Given the description of an element on the screen output the (x, y) to click on. 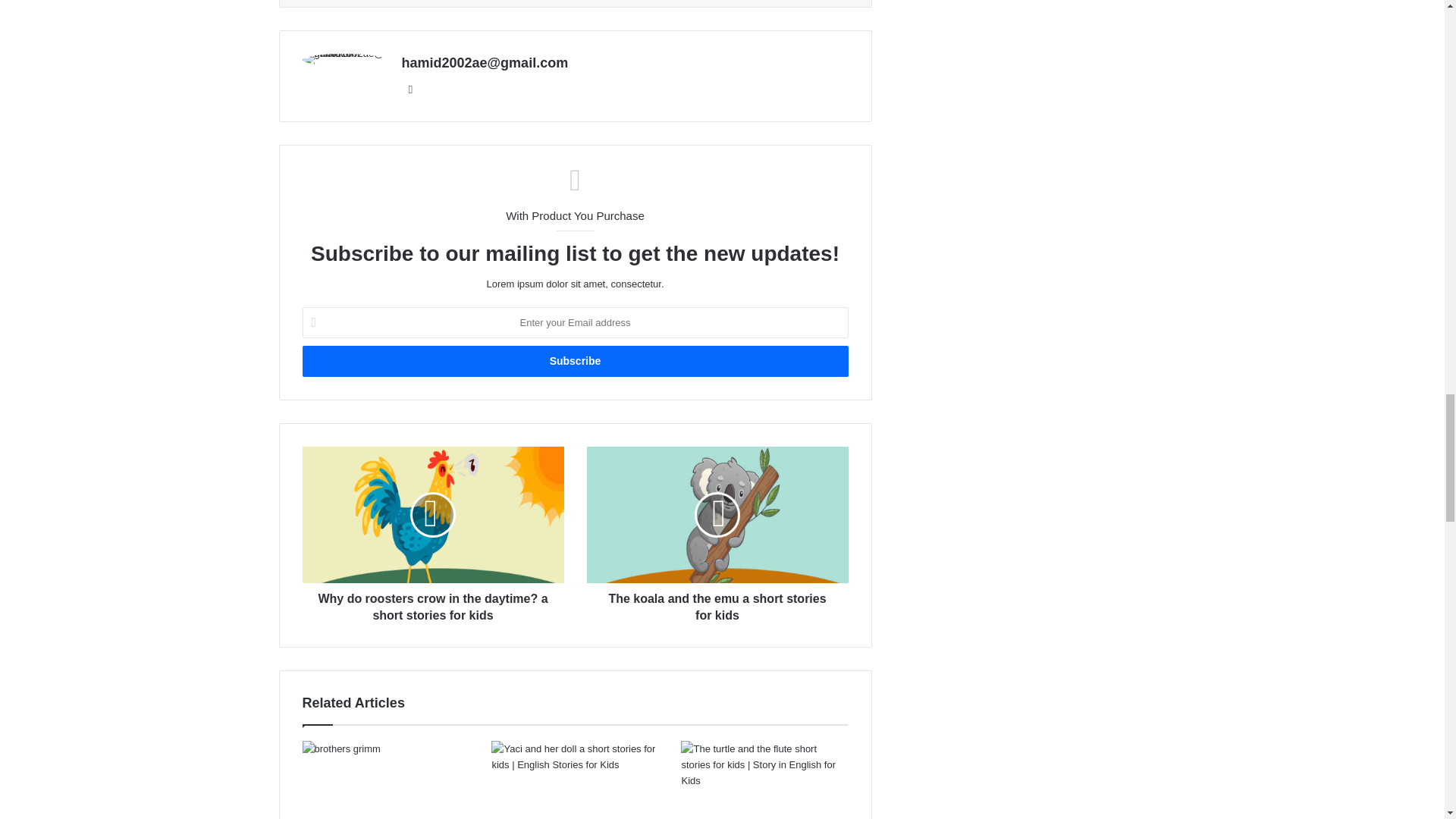
Subscribe (574, 360)
